Given the description of an element on the screen output the (x, y) to click on. 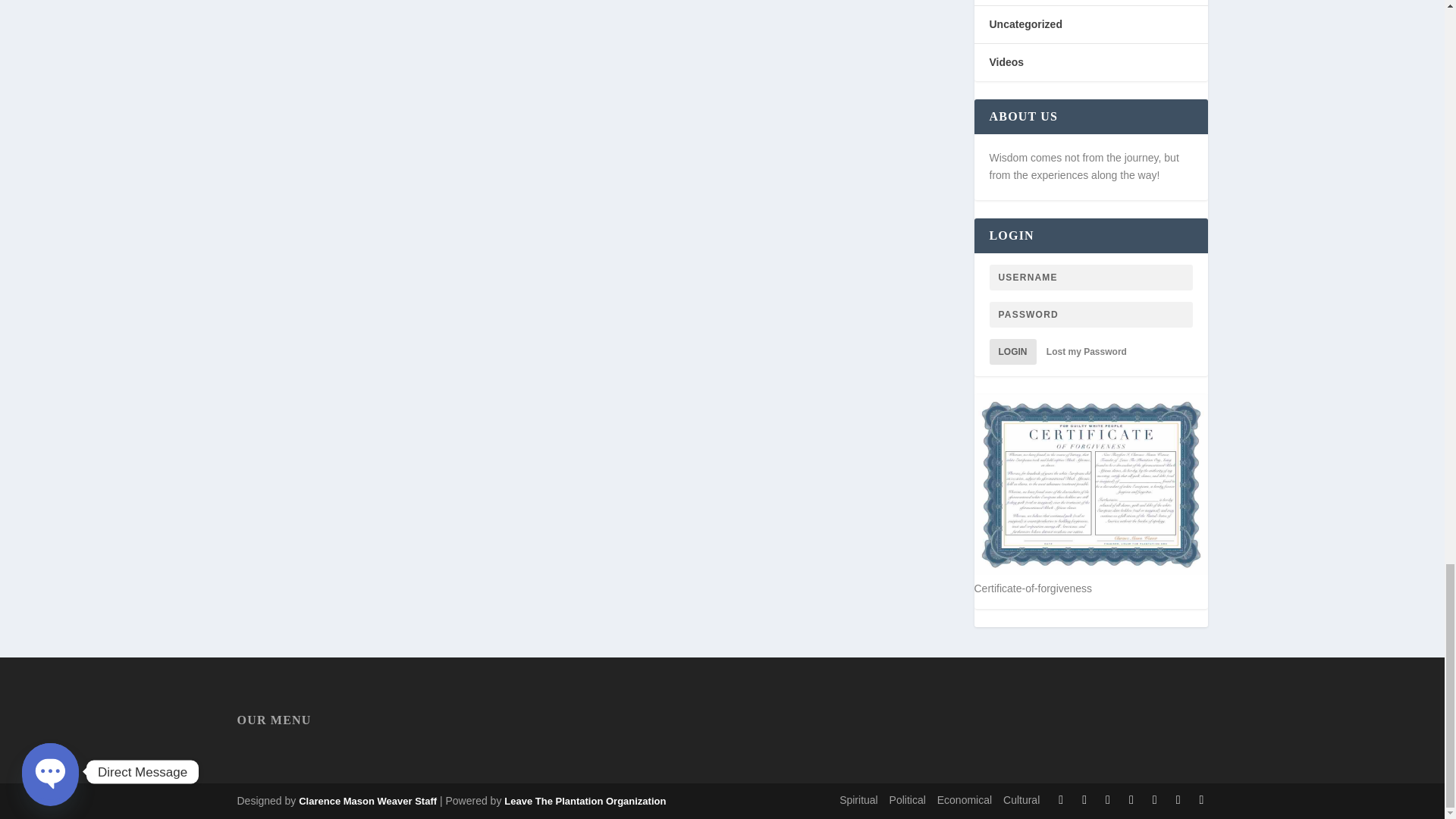
Leave the Plantation Organization (367, 800)
